Given the description of an element on the screen output the (x, y) to click on. 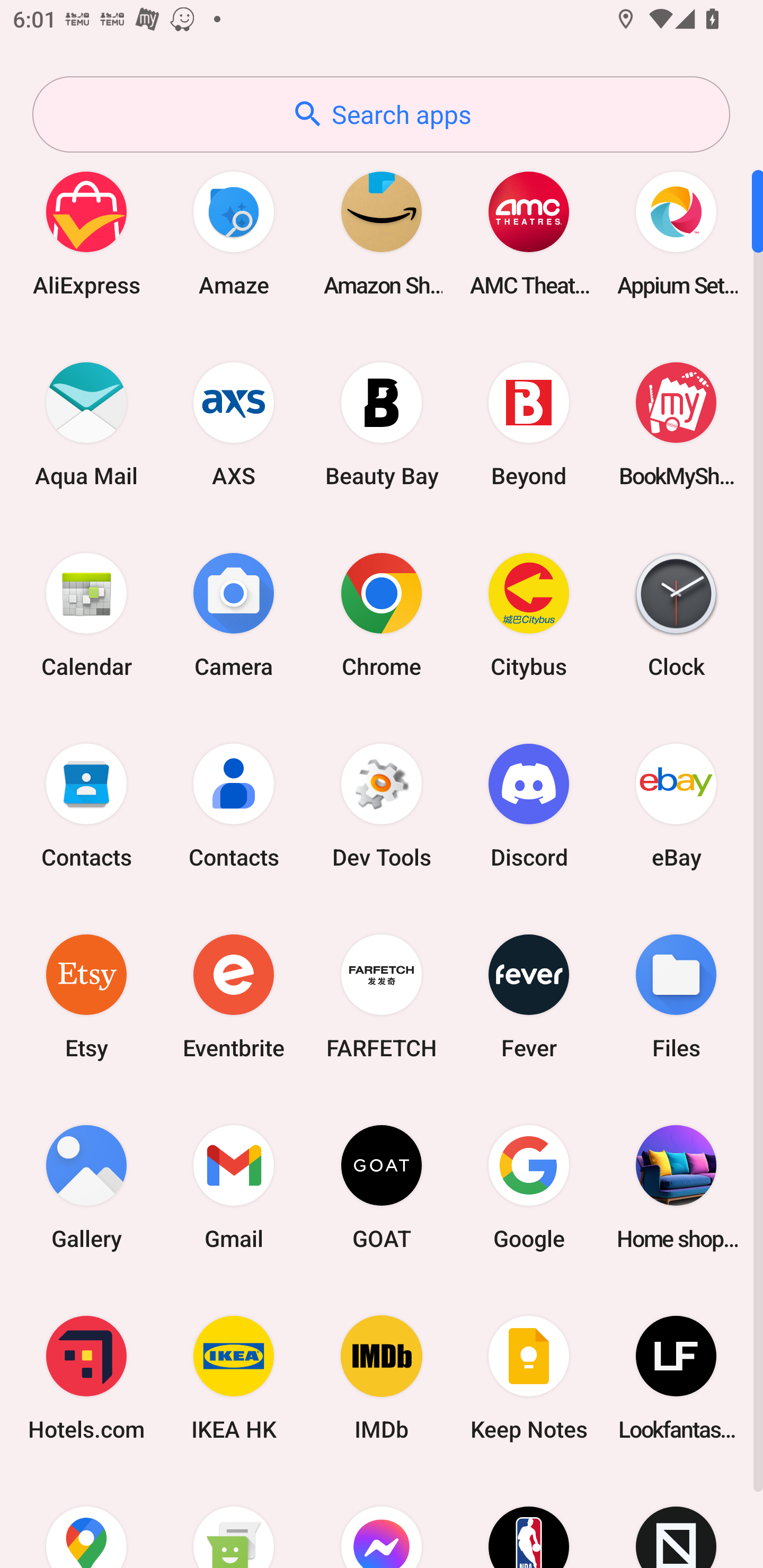
  Search apps (381, 114)
AliExpress (86, 233)
Amaze (233, 233)
Amazon Shopping (381, 233)
AMC Theatres (528, 233)
Appium Settings (676, 233)
Aqua Mail (86, 424)
AXS (233, 424)
Beauty Bay (381, 424)
Beyond (528, 424)
BookMyShow (676, 424)
Calendar (86, 614)
Camera (233, 614)
Chrome (381, 614)
Citybus (528, 614)
Clock (676, 614)
Contacts (86, 805)
Contacts (233, 805)
Dev Tools (381, 805)
Discord (528, 805)
eBay (676, 805)
Etsy (86, 996)
Eventbrite (233, 996)
FARFETCH (381, 996)
Fever (528, 996)
Files (676, 996)
Gallery (86, 1186)
Gmail (233, 1186)
GOAT (381, 1186)
Google (528, 1186)
Home shopping (676, 1186)
Hotels.com (86, 1377)
IKEA HK (233, 1377)
IMDb (381, 1377)
Keep Notes (528, 1377)
Lookfantastic (676, 1377)
Maps (86, 1520)
Messaging (233, 1520)
Messenger (381, 1520)
NBA (528, 1520)
Novelship (676, 1520)
